Given the description of an element on the screen output the (x, y) to click on. 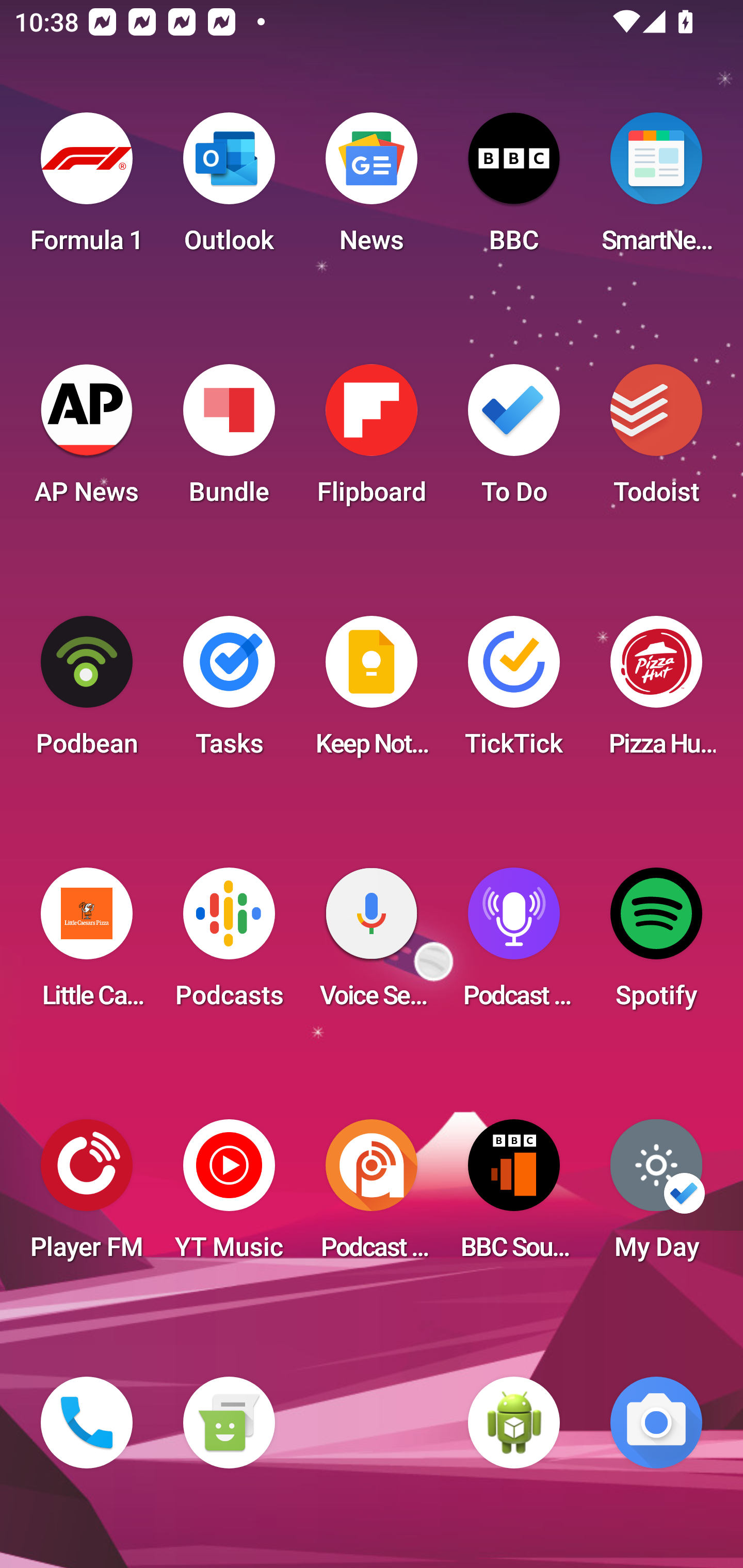
Formula 1 (86, 188)
Outlook (228, 188)
News (371, 188)
BBC (513, 188)
SmartNews (656, 188)
AP News (86, 440)
Bundle (228, 440)
Flipboard (371, 440)
To Do (513, 440)
Todoist (656, 440)
Podbean (86, 692)
Tasks (228, 692)
Keep Notes (371, 692)
TickTick (513, 692)
Pizza Hut HK & Macau (656, 692)
Little Caesars Pizza (86, 943)
Podcasts (228, 943)
Voice Search (371, 943)
Podcast Player (513, 943)
Spotify (656, 943)
Player FM (86, 1195)
YT Music (228, 1195)
Podcast Addict (371, 1195)
BBC Sounds (513, 1195)
My Day (656, 1195)
Phone (86, 1422)
Messaging (228, 1422)
WebView Browser Tester (513, 1422)
Camera (656, 1422)
